Given the description of an element on the screen output the (x, y) to click on. 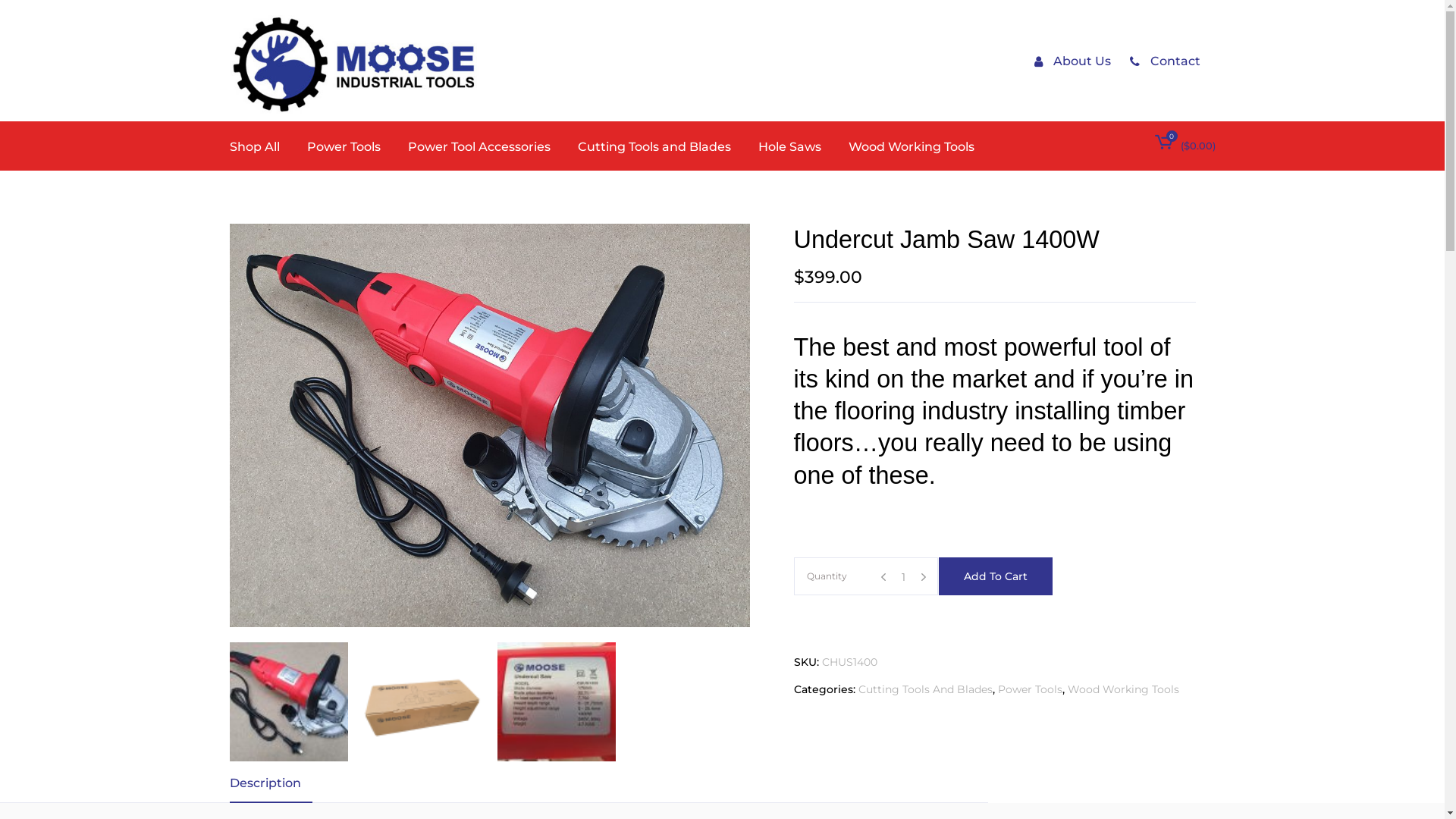
Contact Element type: text (1164, 60)
Wood Working Tools Element type: text (910, 145)
Hole Saws Element type: text (789, 145)
Qty Element type: hover (903, 576)
Power Tools Element type: text (342, 145)
Power Tool Accessories Element type: text (479, 145)
Power Tools Element type: text (1029, 689)
Shop All Element type: text (260, 145)
Add To Cart Element type: text (995, 576)
20220823_110121 Element type: hover (288, 701)
About Us Element type: text (1072, 60)
Wood Working Tools Element type: text (1123, 689)
Cutting Tools and Blades Element type: text (654, 145)
20220823_110121 Element type: hover (489, 425)
SpecsReg Element type: hover (556, 701)
0
($0.00) Element type: text (1184, 145)
Box Element type: hover (422, 701)
Cutting Tools And Blades Element type: text (925, 689)
Description Element type: text (270, 782)
